Given the description of an element on the screen output the (x, y) to click on. 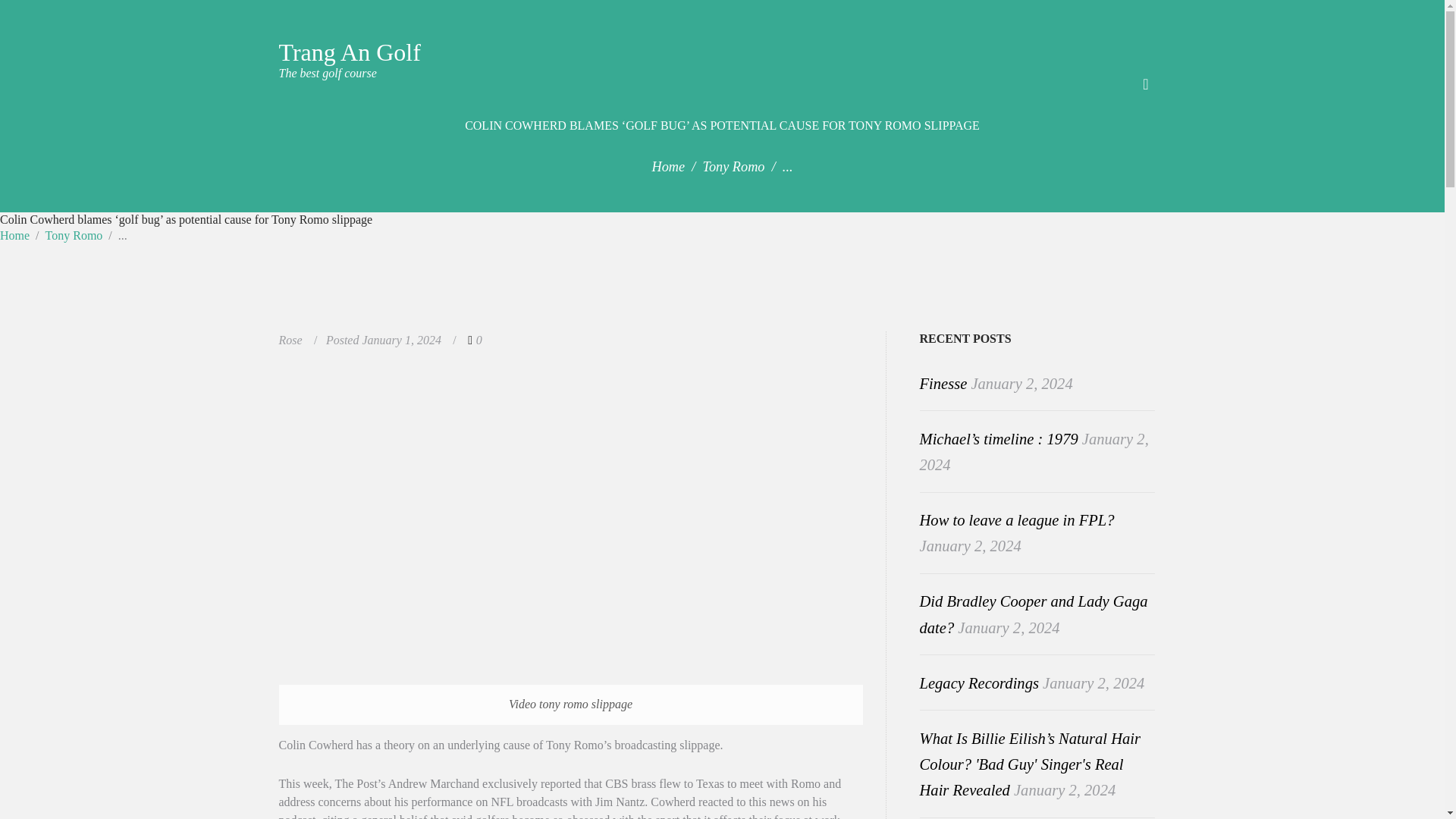
Tony Romo (732, 167)
Open search (349, 62)
Home (1146, 81)
